Given the description of an element on the screen output the (x, y) to click on. 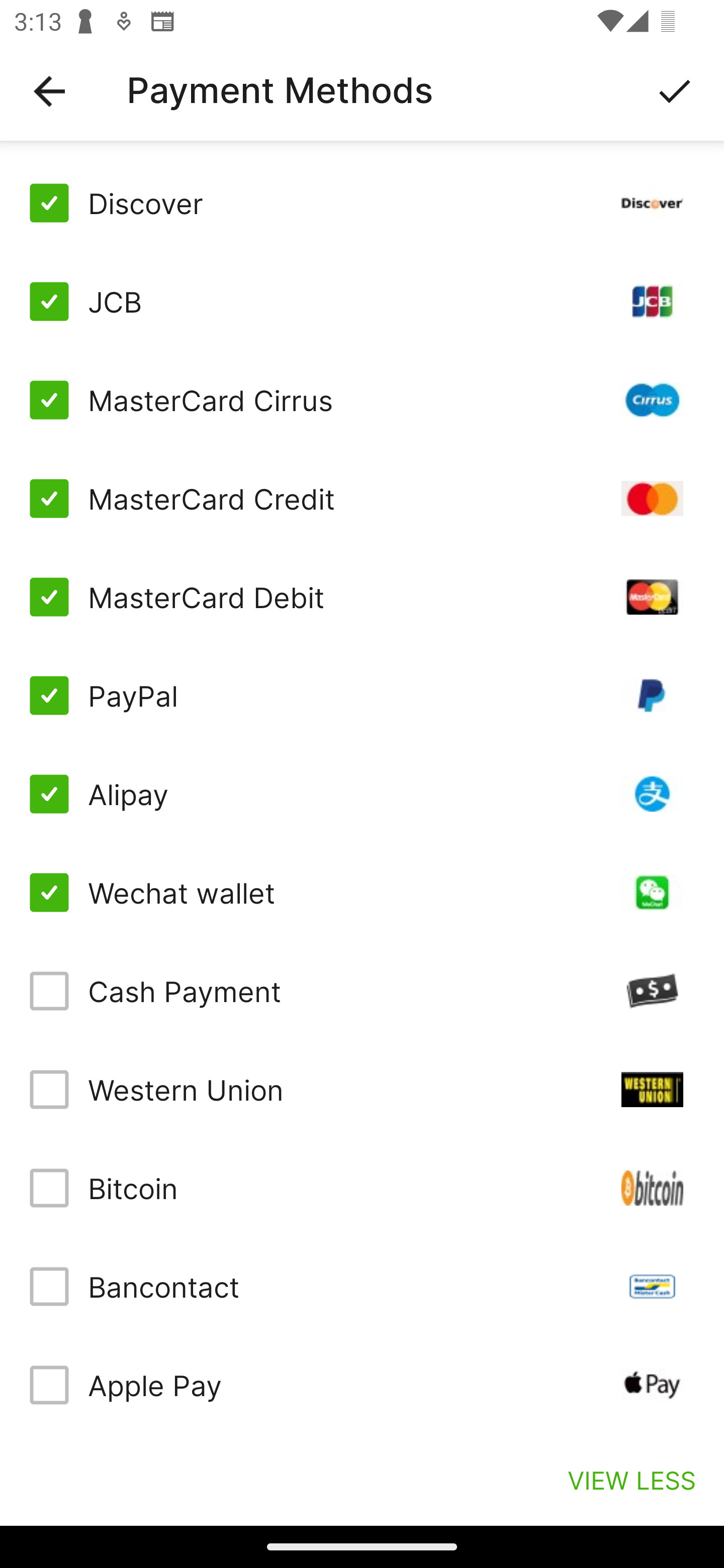
Discover (362, 202)
JCB (362, 301)
MasterCard Cirrus (362, 400)
MasterCard Credit (362, 498)
MasterCard Debit (362, 596)
PayPal (362, 695)
Alipay (362, 793)
Wechat wallet (362, 892)
Cash Payment (362, 990)
Western Union (362, 1088)
Bitcoin (362, 1187)
Bancontact (362, 1286)
Apple Pay (362, 1384)
VIEW LESS (631, 1479)
